Given the description of an element on the screen output the (x, y) to click on. 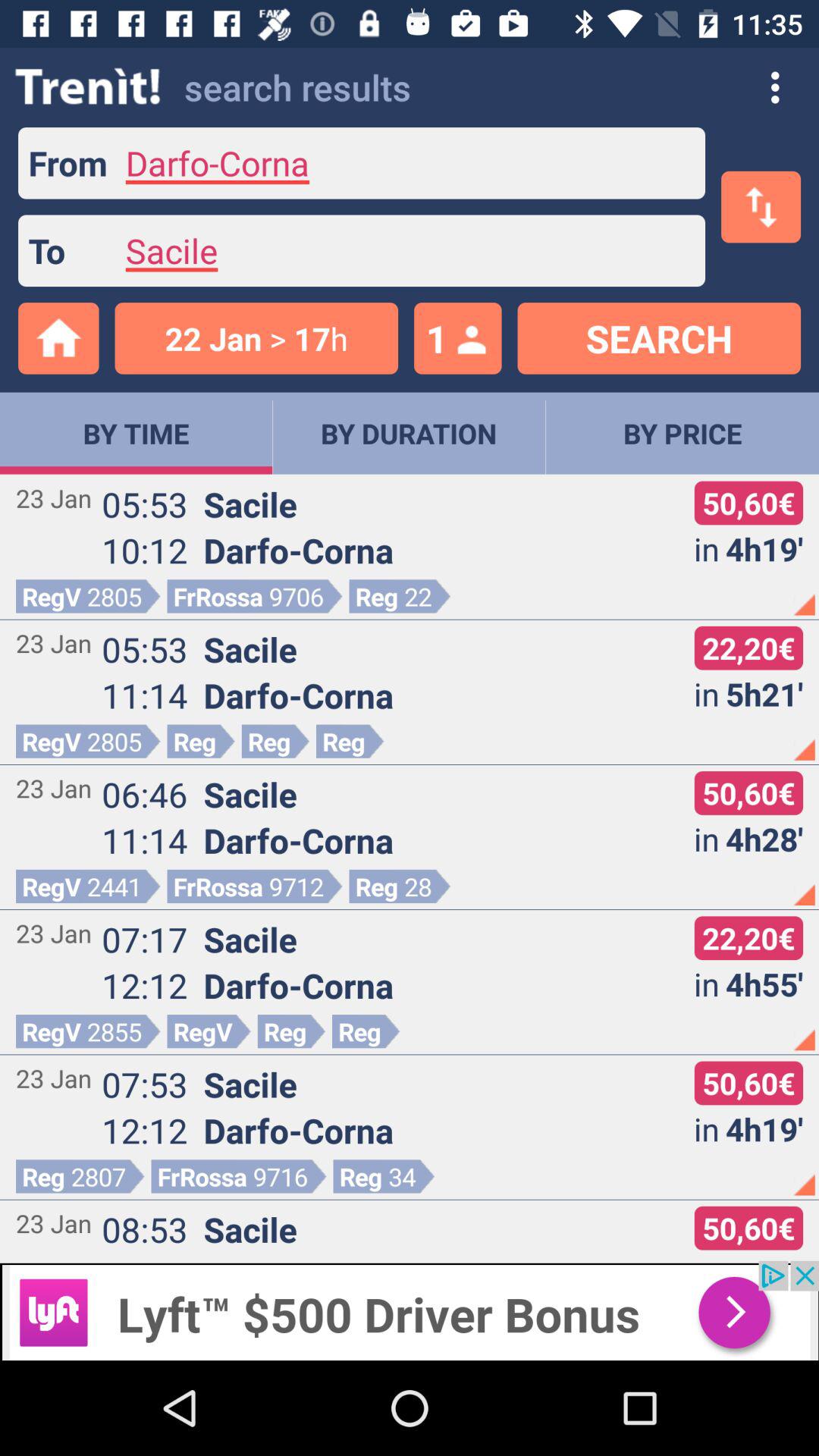
select the text which is to the immediate right of to (406, 250)
